Given the description of an element on the screen output the (x, y) to click on. 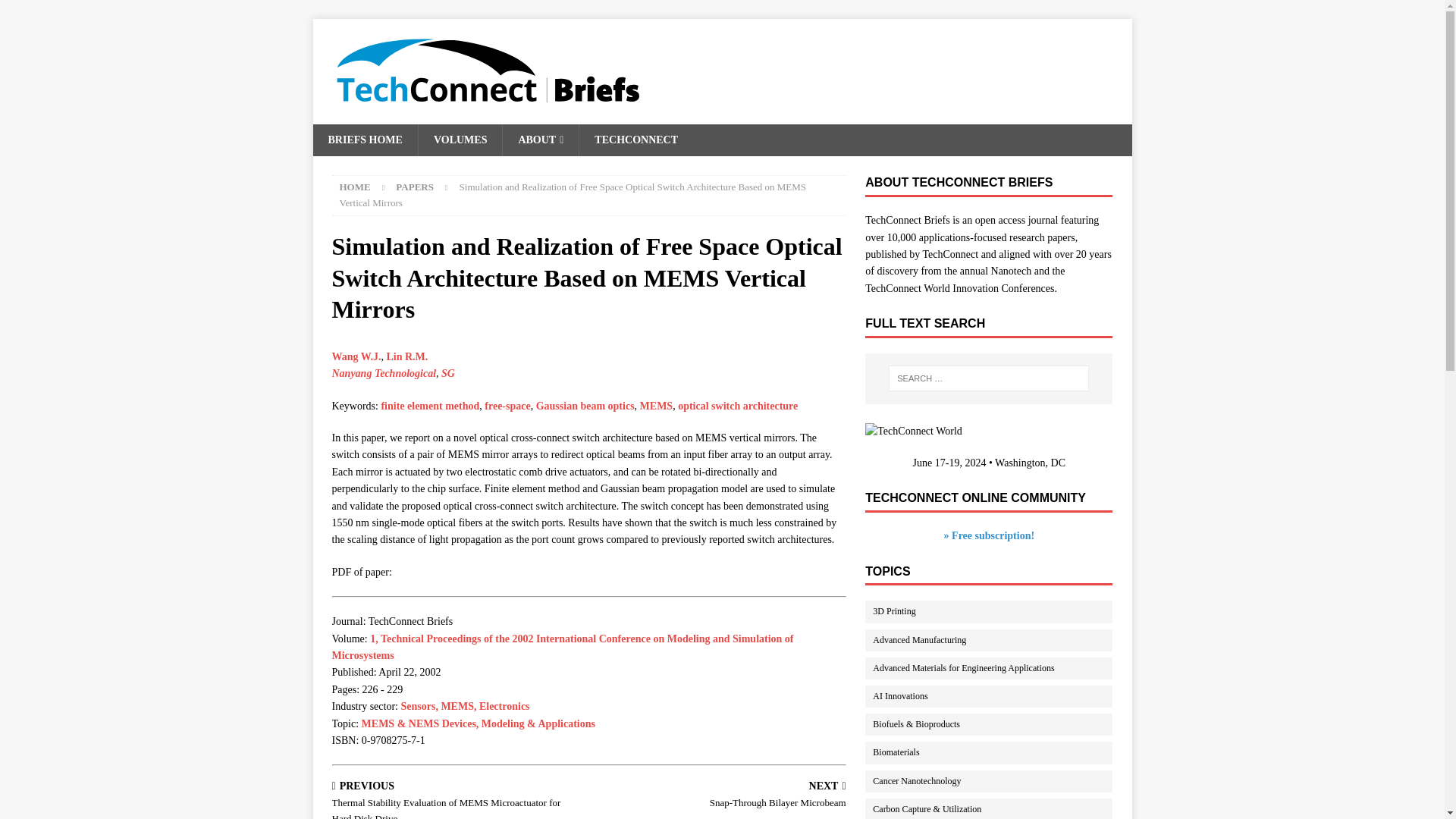
PAPERS (414, 186)
Lin R.M. (406, 356)
Home (355, 186)
finite element method (429, 405)
BRIEFS HOME (364, 140)
MEMS (656, 405)
Search (56, 11)
Wang W.J. (356, 356)
TECHCONNECT (635, 140)
ABOUT (540, 140)
free-space (506, 405)
Advanced Materials for Engineering Applications (995, 668)
Sensors, MEMS, Electronics (464, 706)
Advanced Manufacturing (995, 640)
